Given the description of an element on the screen output the (x, y) to click on. 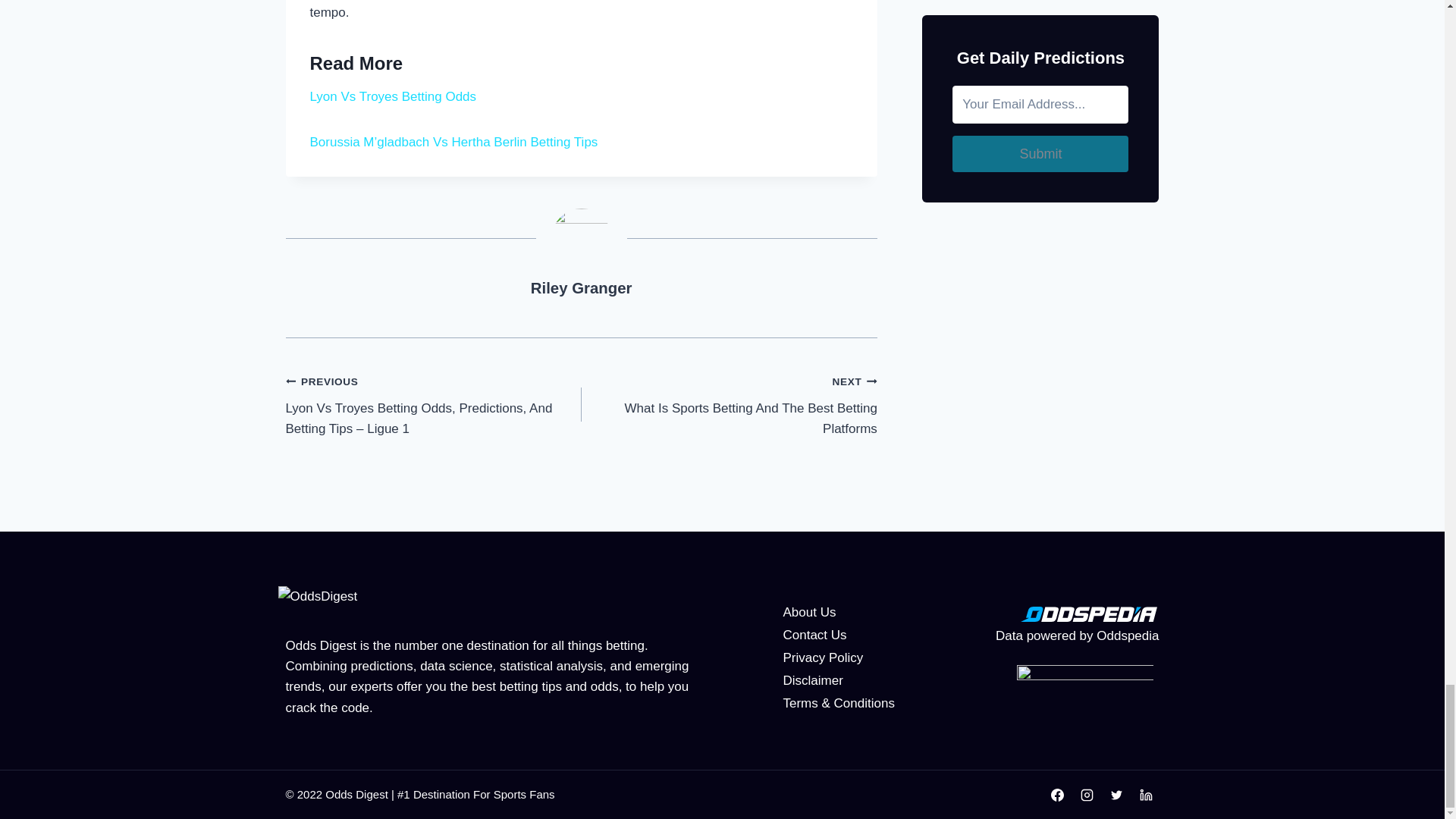
Privacy Policy (728, 404)
Riley Granger (823, 657)
Lyon Vs Troyes Betting Odds (581, 288)
Posts by Riley Granger (392, 96)
About Us (581, 288)
Disclaimer (809, 612)
Contact Us (813, 680)
